Given the description of an element on the screen output the (x, y) to click on. 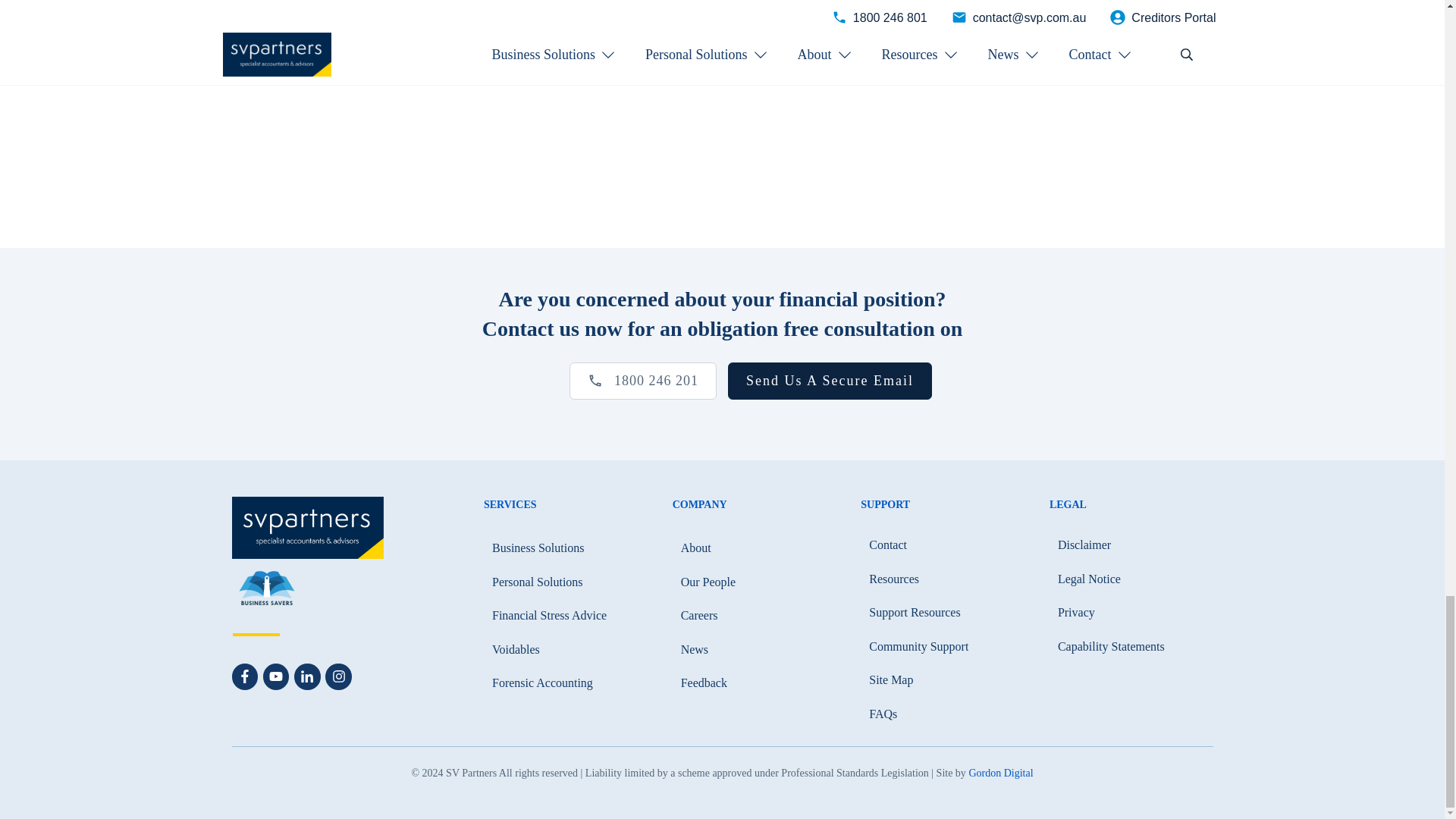
Business Savers (266, 589)
